Given the description of an element on the screen output the (x, y) to click on. 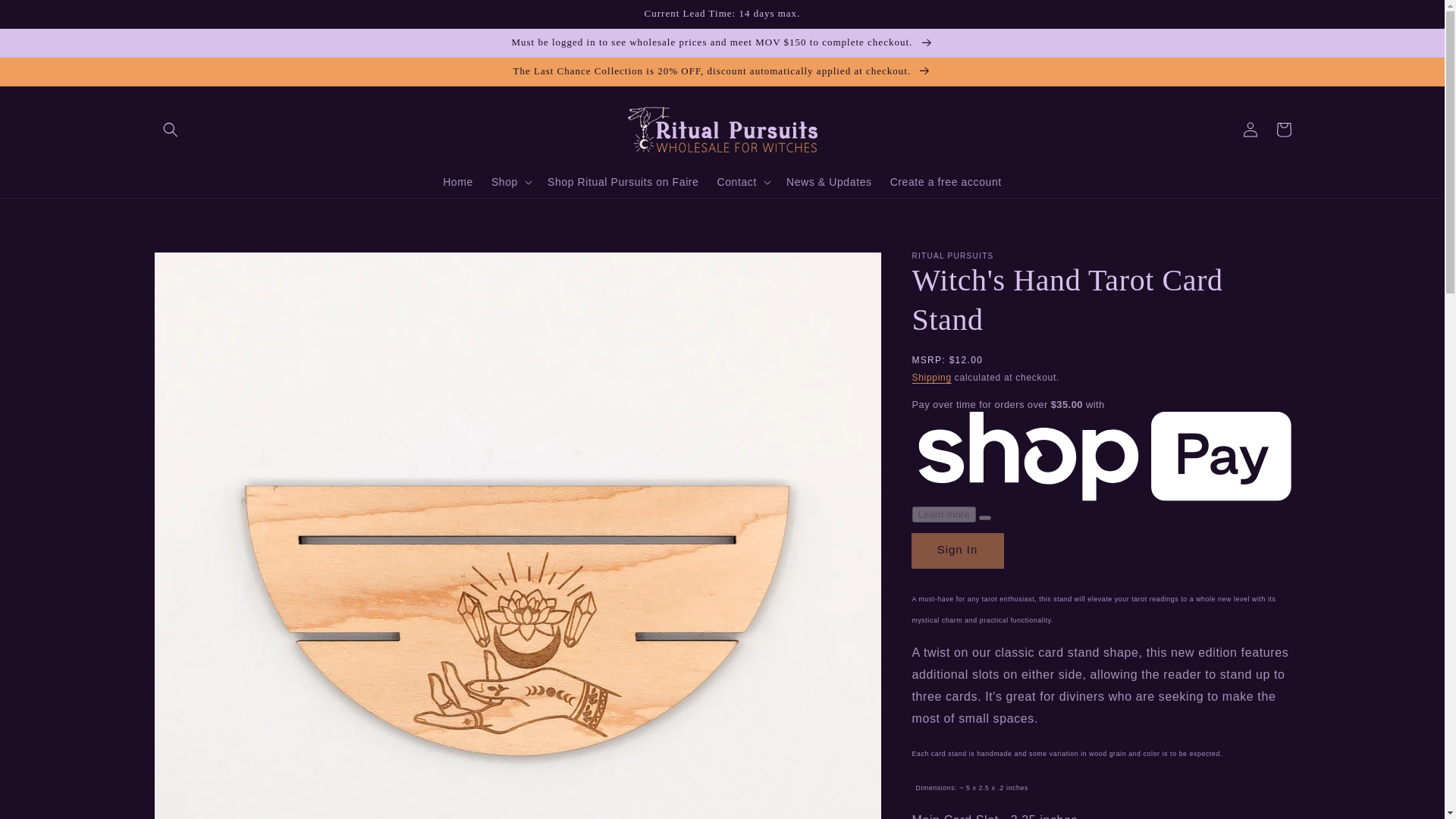
Home (457, 182)
Skip to content (45, 16)
Sign in for wholesale pricing and to add to cart (957, 550)
